Given the description of an element on the screen output the (x, y) to click on. 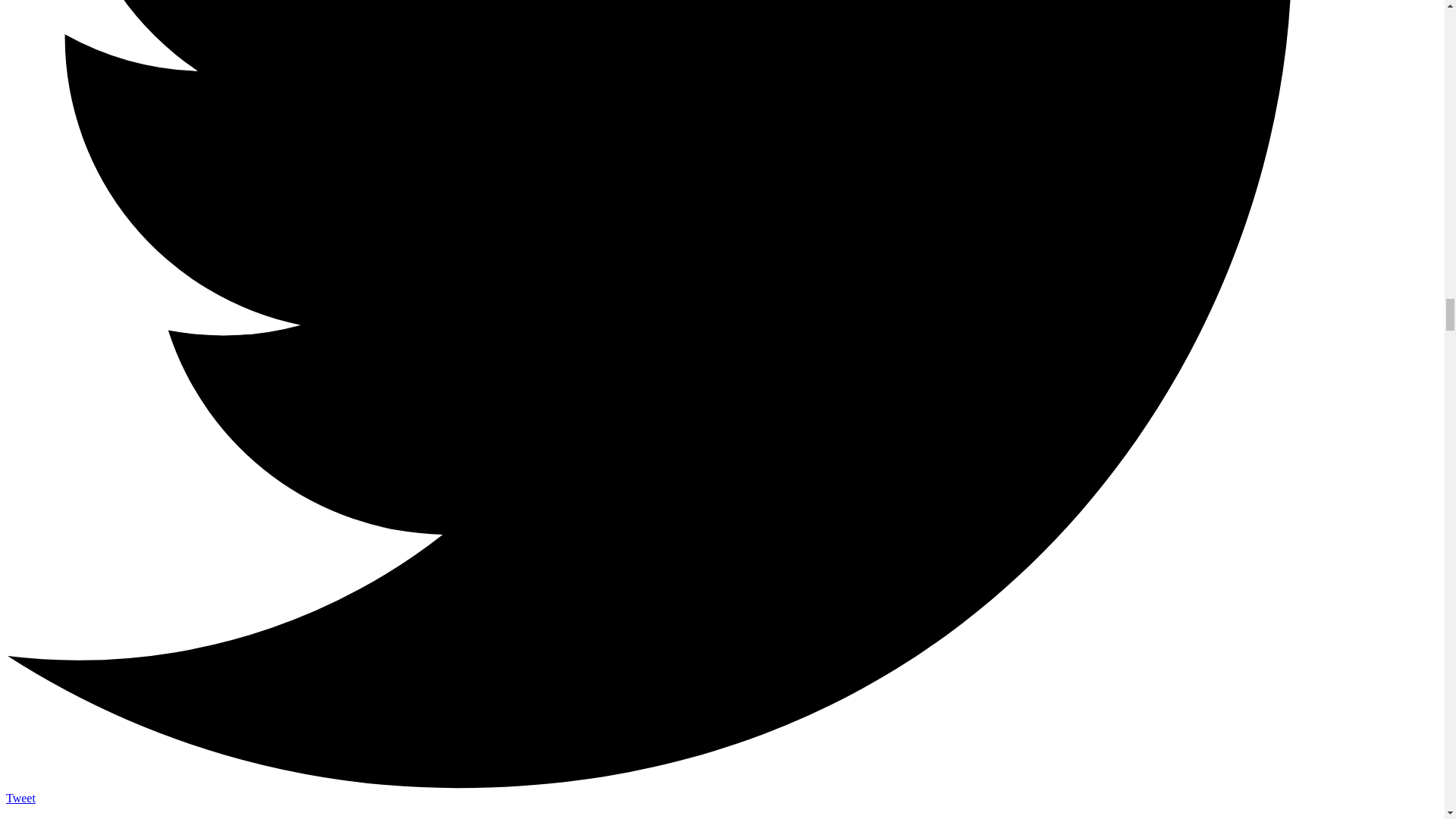
Coffeeboxx (147, 818)
